Given the description of an element on the screen output the (x, y) to click on. 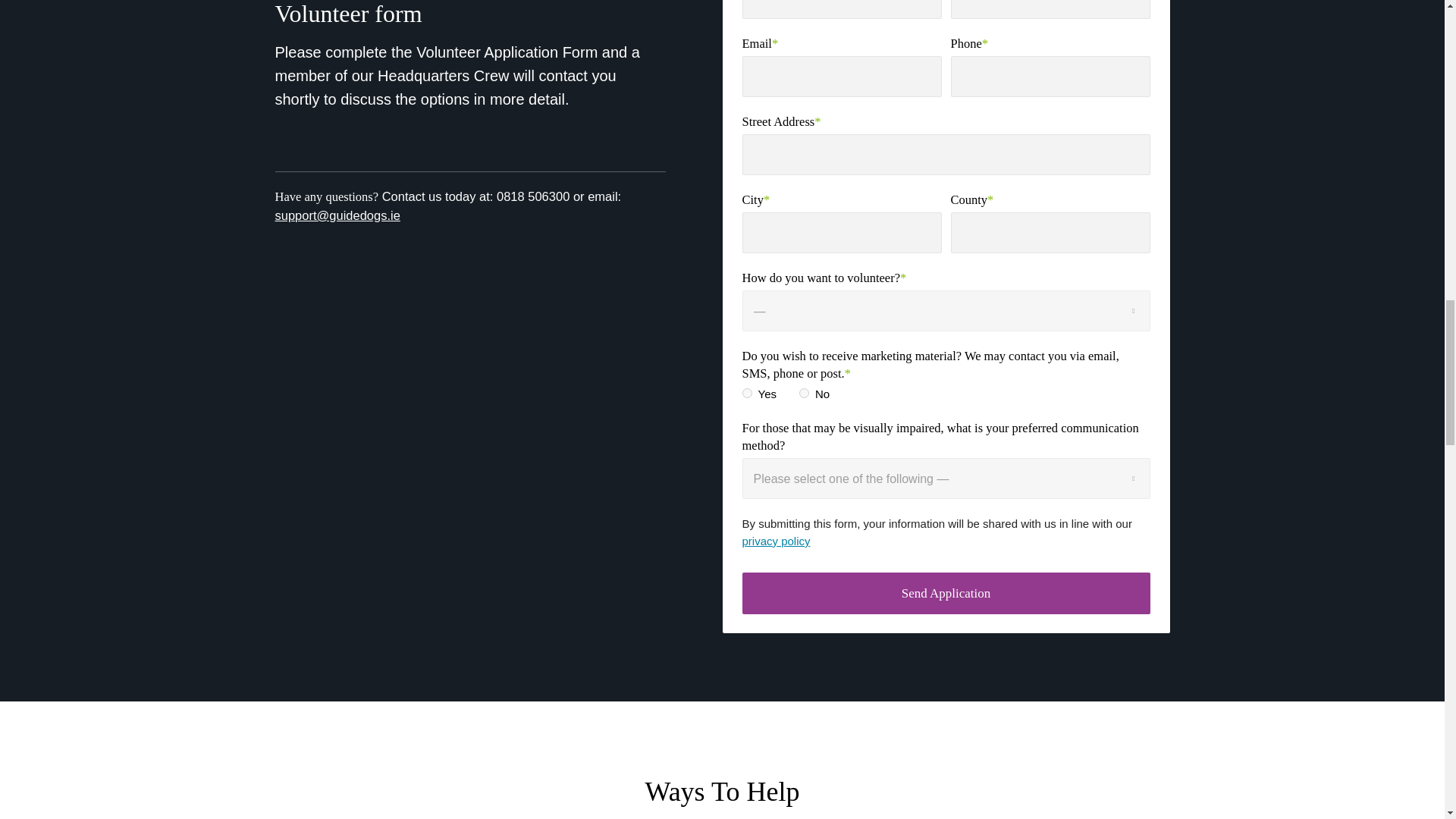
Yes (746, 393)
No (804, 393)
privacy policy (775, 540)
Send Application (945, 593)
